Given the description of an element on the screen output the (x, y) to click on. 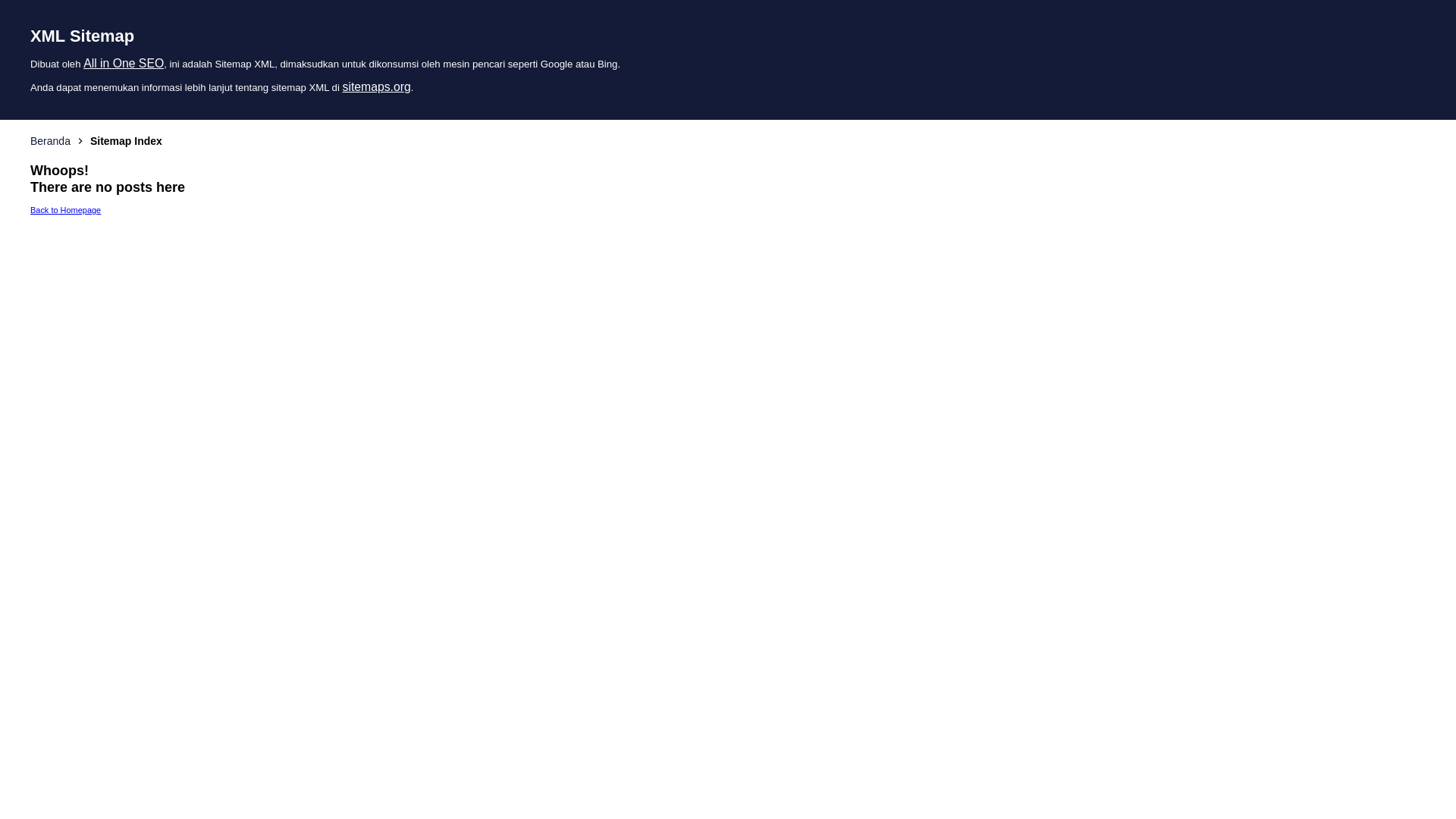
All in One SEO Element type: text (123, 62)
Beranda Element type: text (50, 140)
sitemaps.org Element type: text (376, 86)
Back to Homepage Element type: text (65, 209)
